Given the description of an element on the screen output the (x, y) to click on. 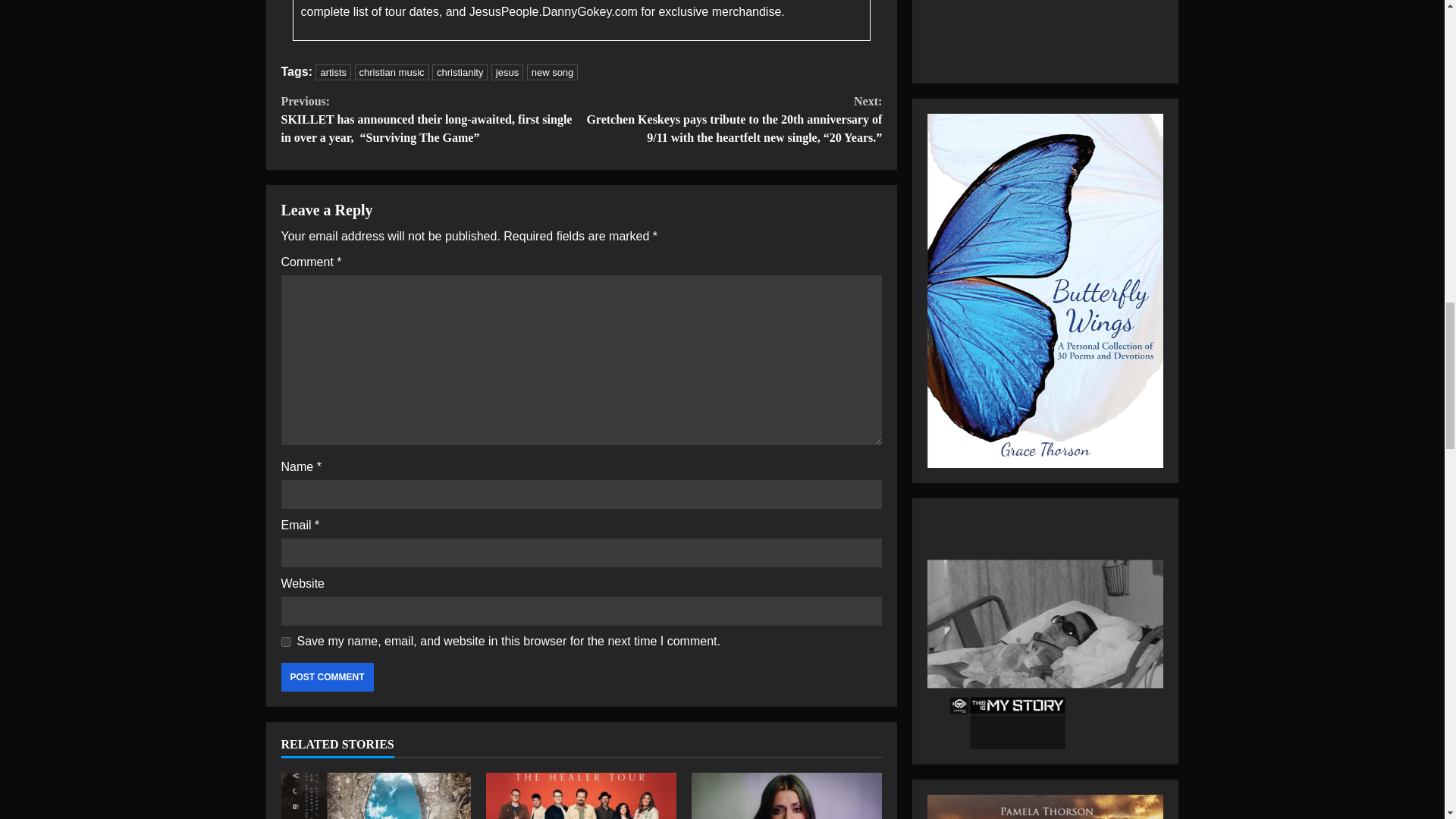
Spotify Embed: Coffee Break  (1045, 31)
Post Comment (326, 676)
yes (285, 642)
